Given the description of an element on the screen output the (x, y) to click on. 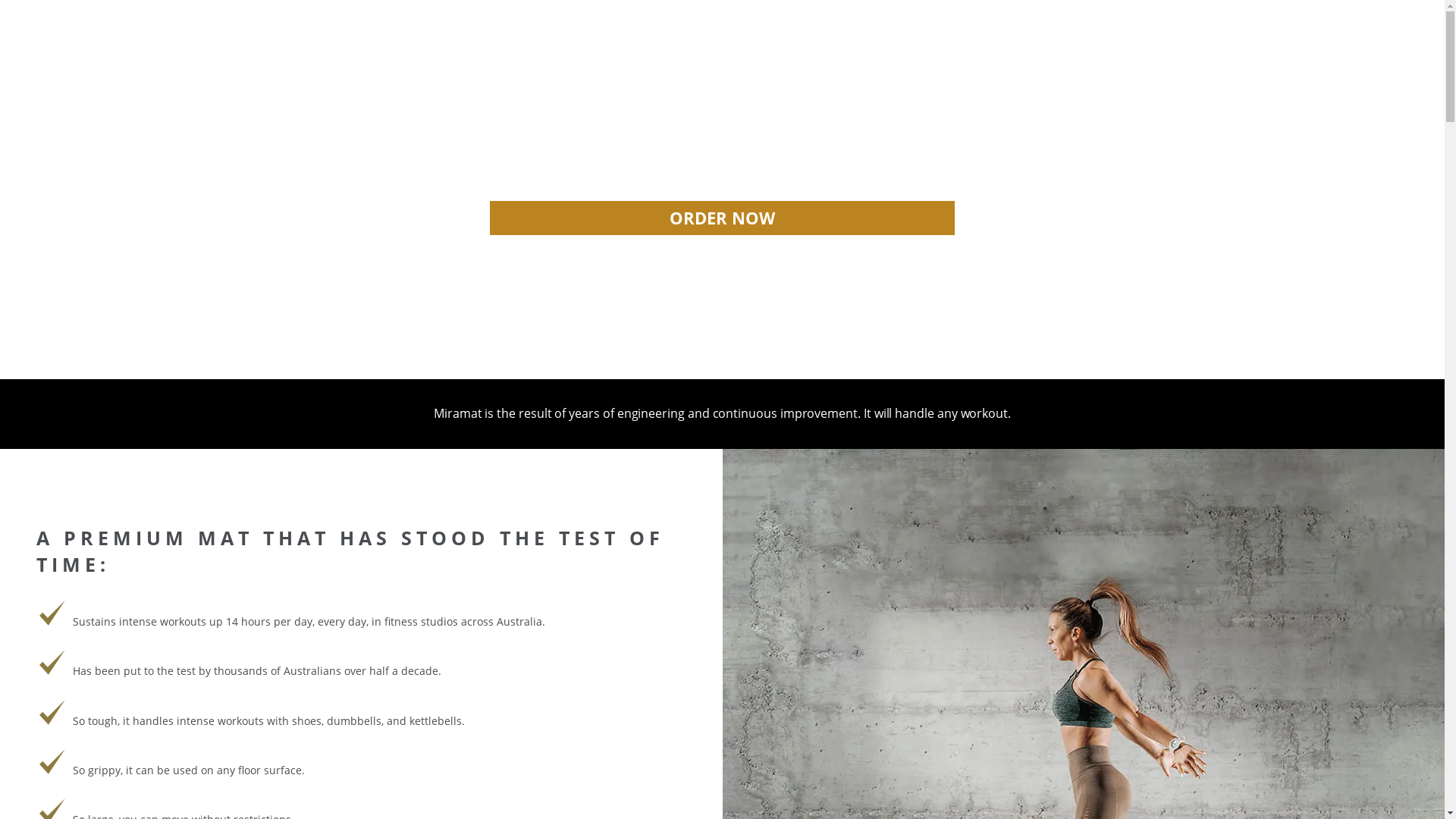
ORDER NOW Element type: text (722, 217)
